Given the description of an element on the screen output the (x, y) to click on. 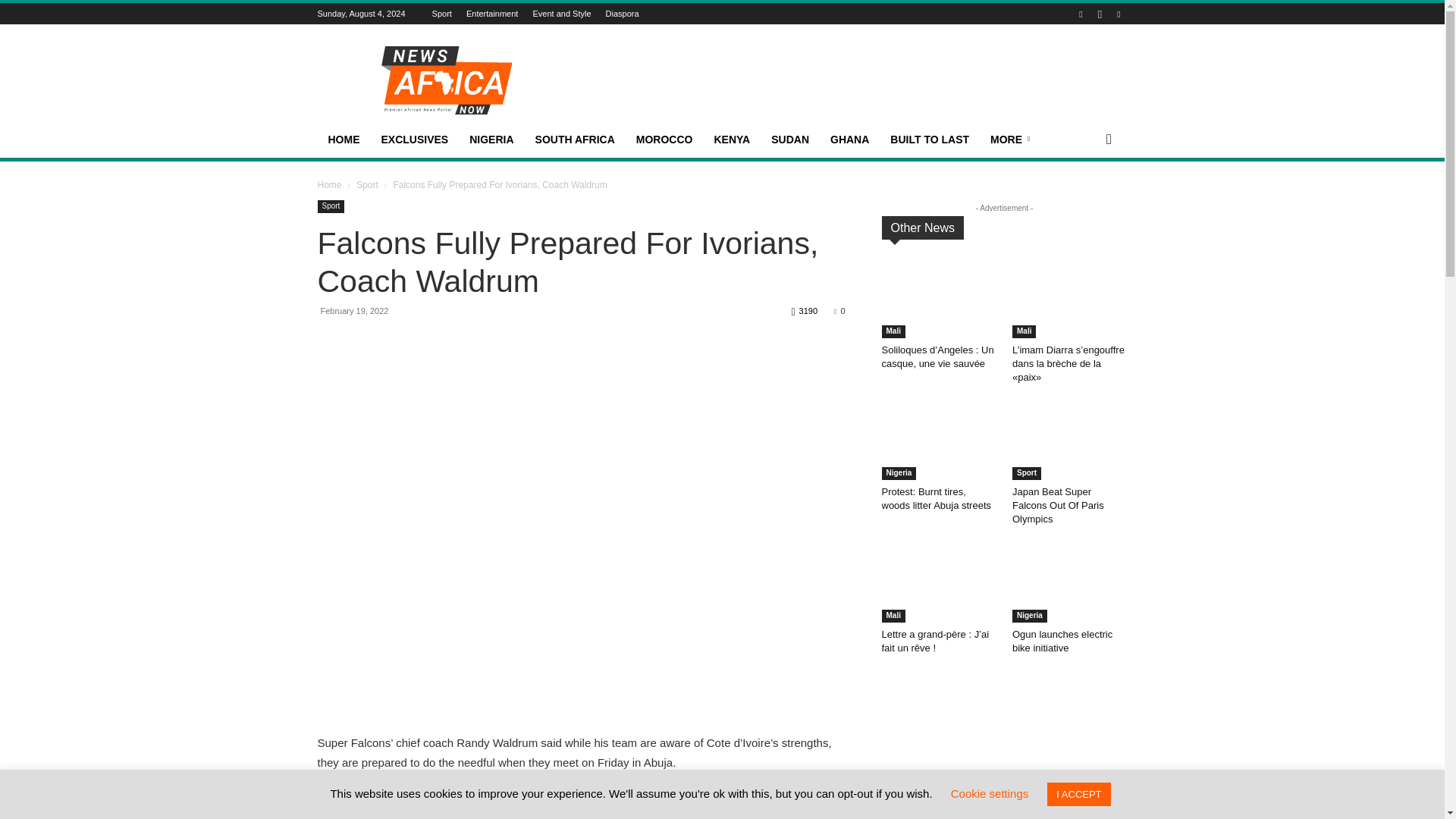
NIGERIA (491, 139)
HOME (343, 139)
Entertainment (491, 13)
Sport (441, 13)
Event and Style (561, 13)
EXCLUSIVES (413, 139)
SOUTH AFRICA (575, 139)
View all posts in Sport (367, 184)
Diaspora (622, 13)
MOROCCO (664, 139)
